Given the description of an element on the screen output the (x, y) to click on. 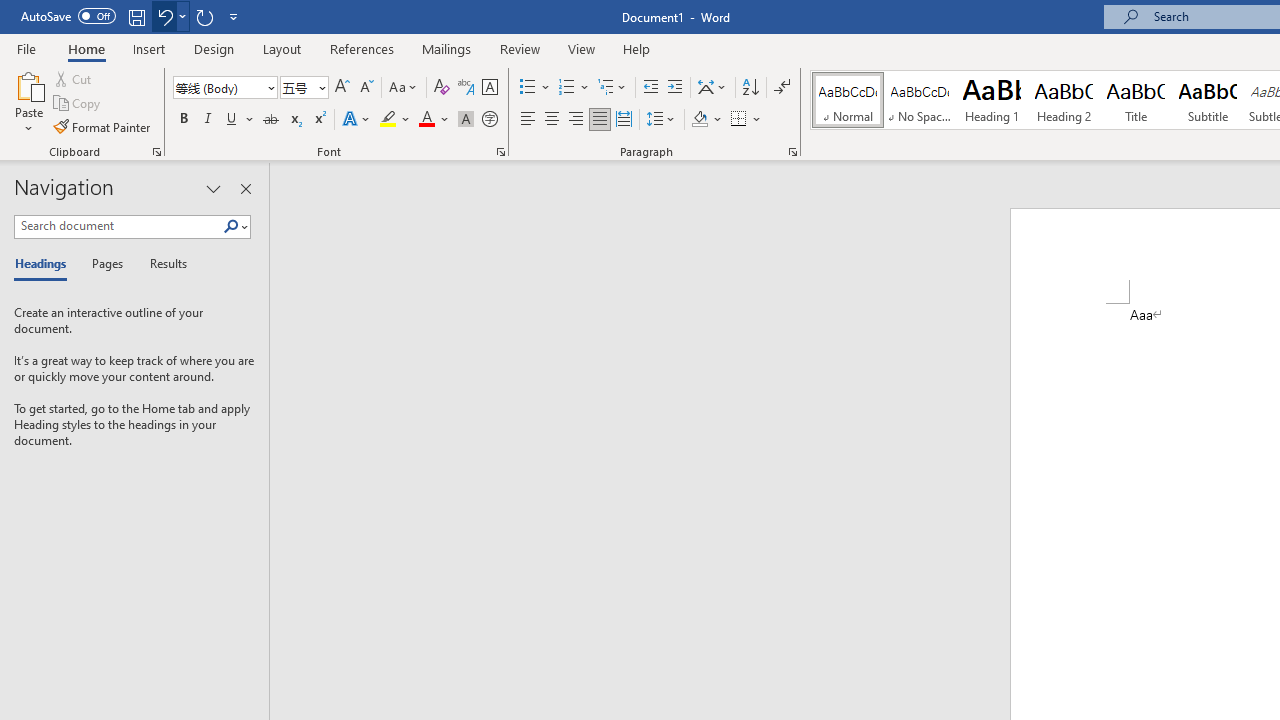
Font Color Red (426, 119)
